Given the description of an element on the screen output the (x, y) to click on. 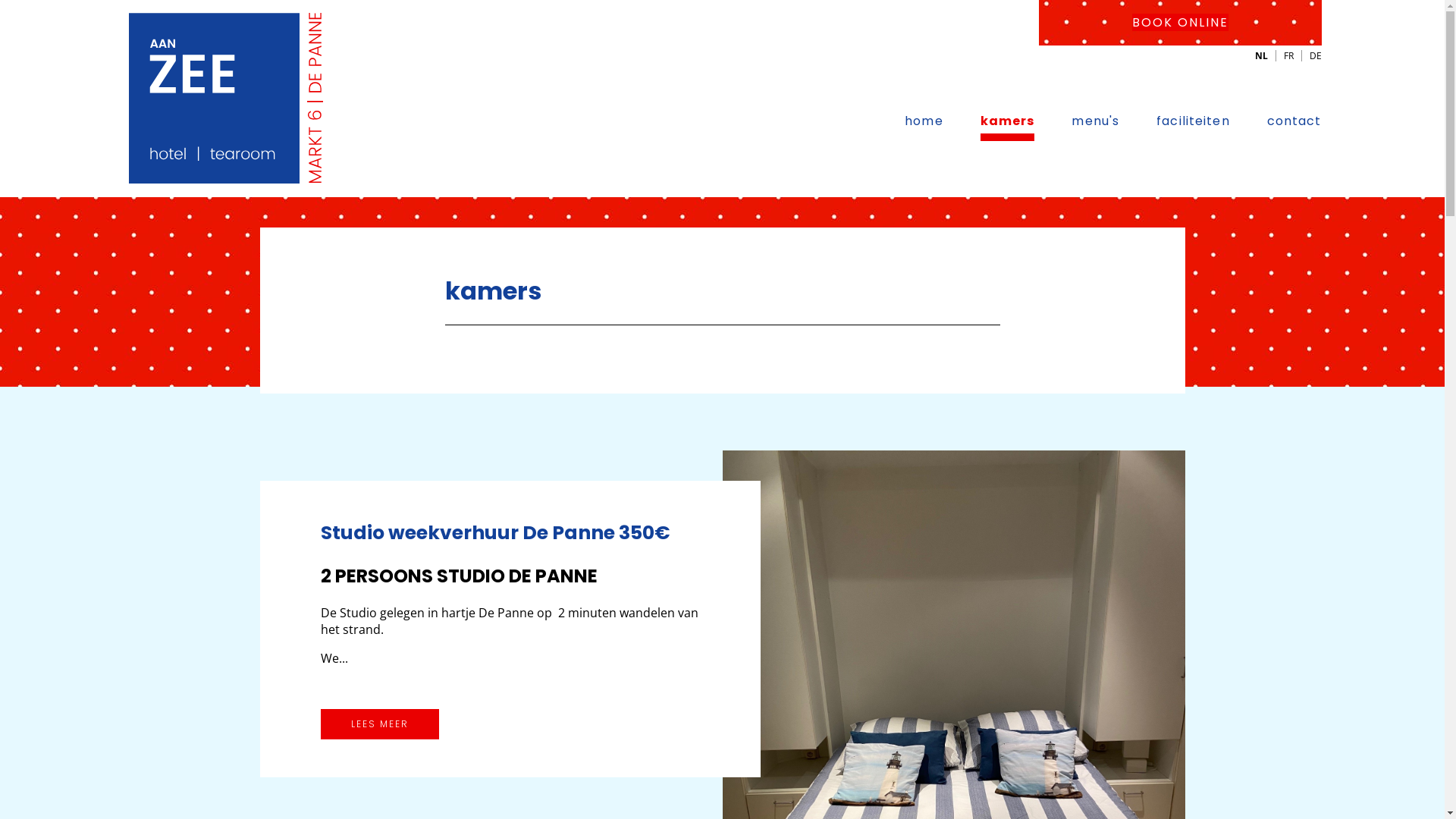
home Element type: text (923, 120)
NL Element type: text (1260, 55)
BOOK ONLINE Element type: text (1179, 22)
faciliteiten Element type: text (1192, 120)
menu's Element type: text (1095, 120)
LEES MEER Element type: text (379, 724)
FR Element type: text (1288, 55)
DE Element type: text (1311, 55)
contact Element type: text (1294, 120)
kamers Element type: text (1007, 126)
